Given the description of an element on the screen output the (x, y) to click on. 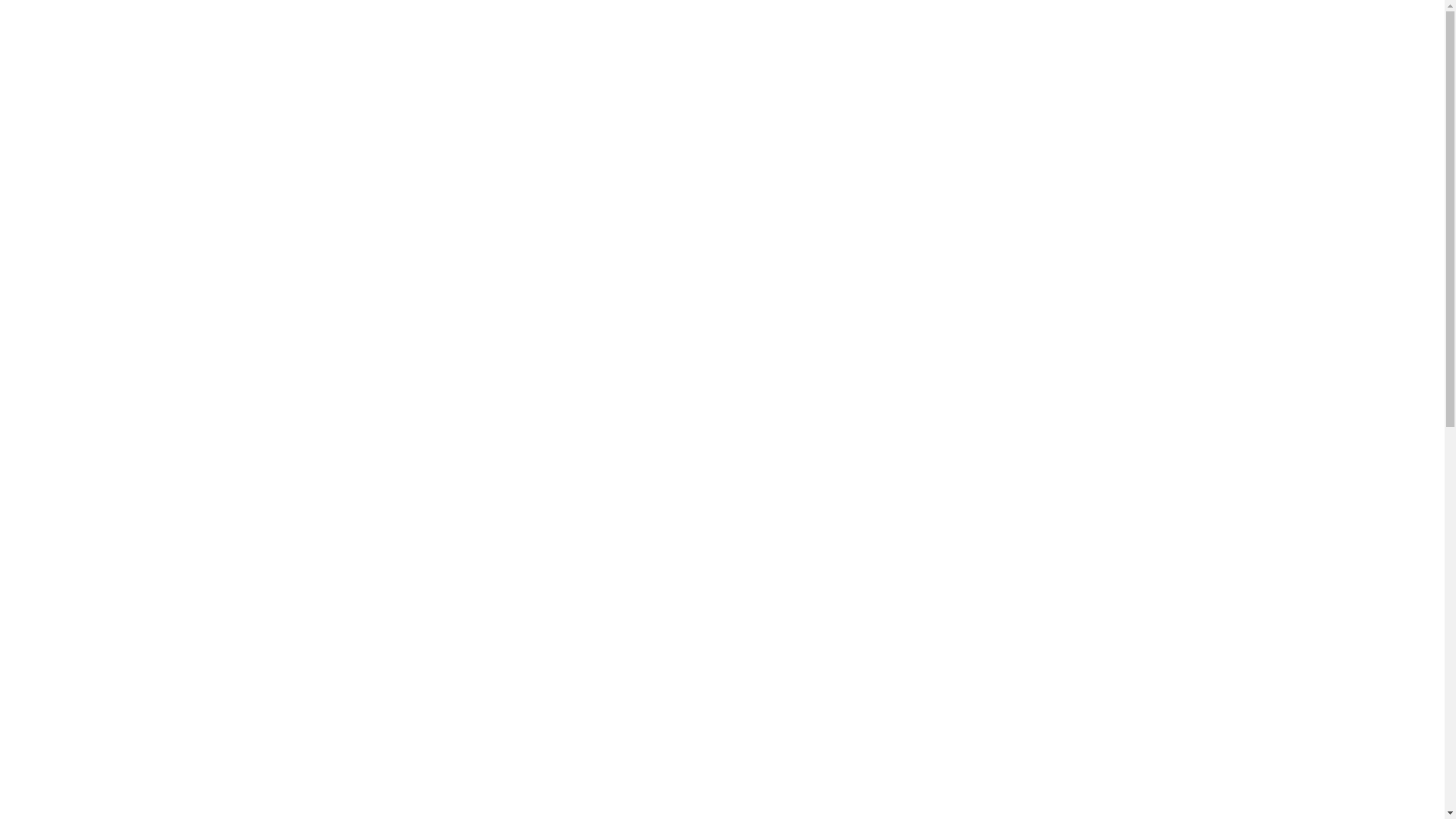
Shop our range Element type: text (908, 72)
Home Element type: text (816, 72)
Let's Talk Element type: text (1165, 72)
Cart
0 Element type: text (1262, 72)
About our carriers Element type: text (1044, 72)
